Given the description of an element on the screen output the (x, y) to click on. 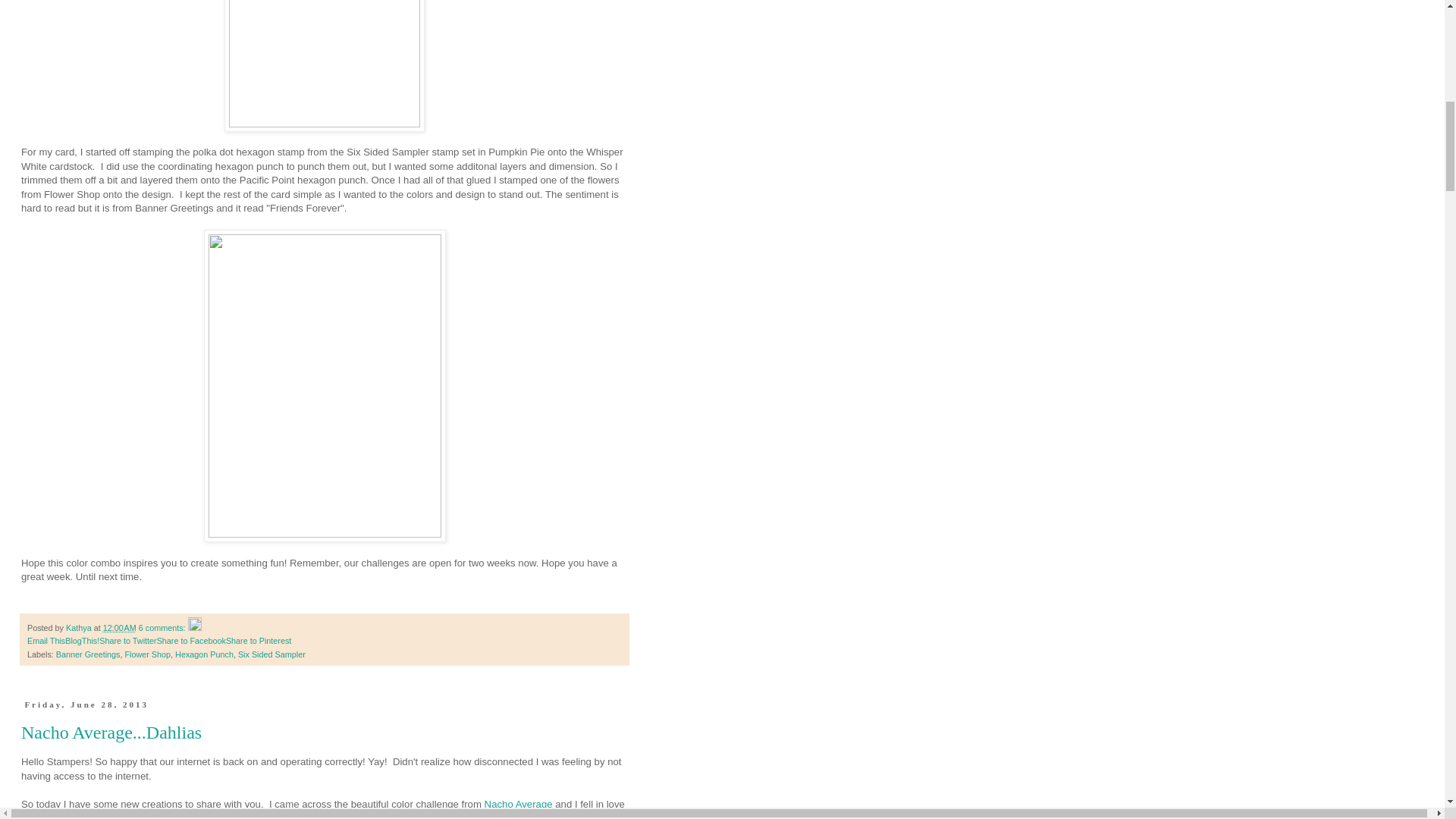
Kathya (79, 627)
Email This (46, 640)
Share to Facebook (191, 640)
6 comments: (162, 627)
Nacho Average (518, 803)
Share to Pinterest (258, 640)
Share to Twitter (127, 640)
Edit Post (194, 627)
Six Sided Sampler (271, 654)
Share to Twitter (127, 640)
author profile (79, 627)
Hexagon Punch (203, 654)
BlogThis! (82, 640)
BlogThis! (82, 640)
